Given the description of an element on the screen output the (x, y) to click on. 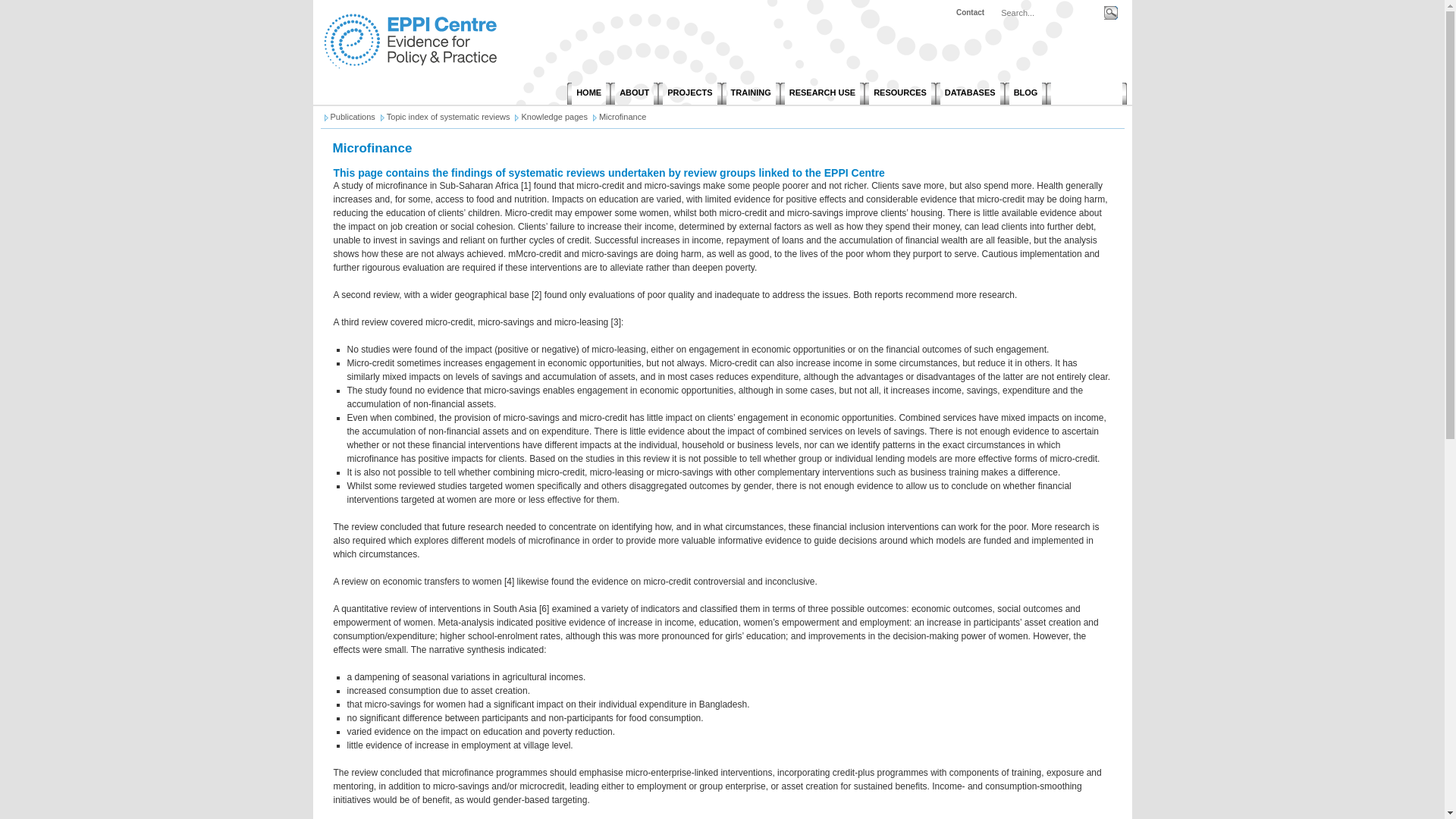
HOME (588, 93)
PROJECTS (689, 93)
Clear search text (1093, 31)
ABOUT (634, 93)
Contact (970, 12)
